Given the description of an element on the screen output the (x, y) to click on. 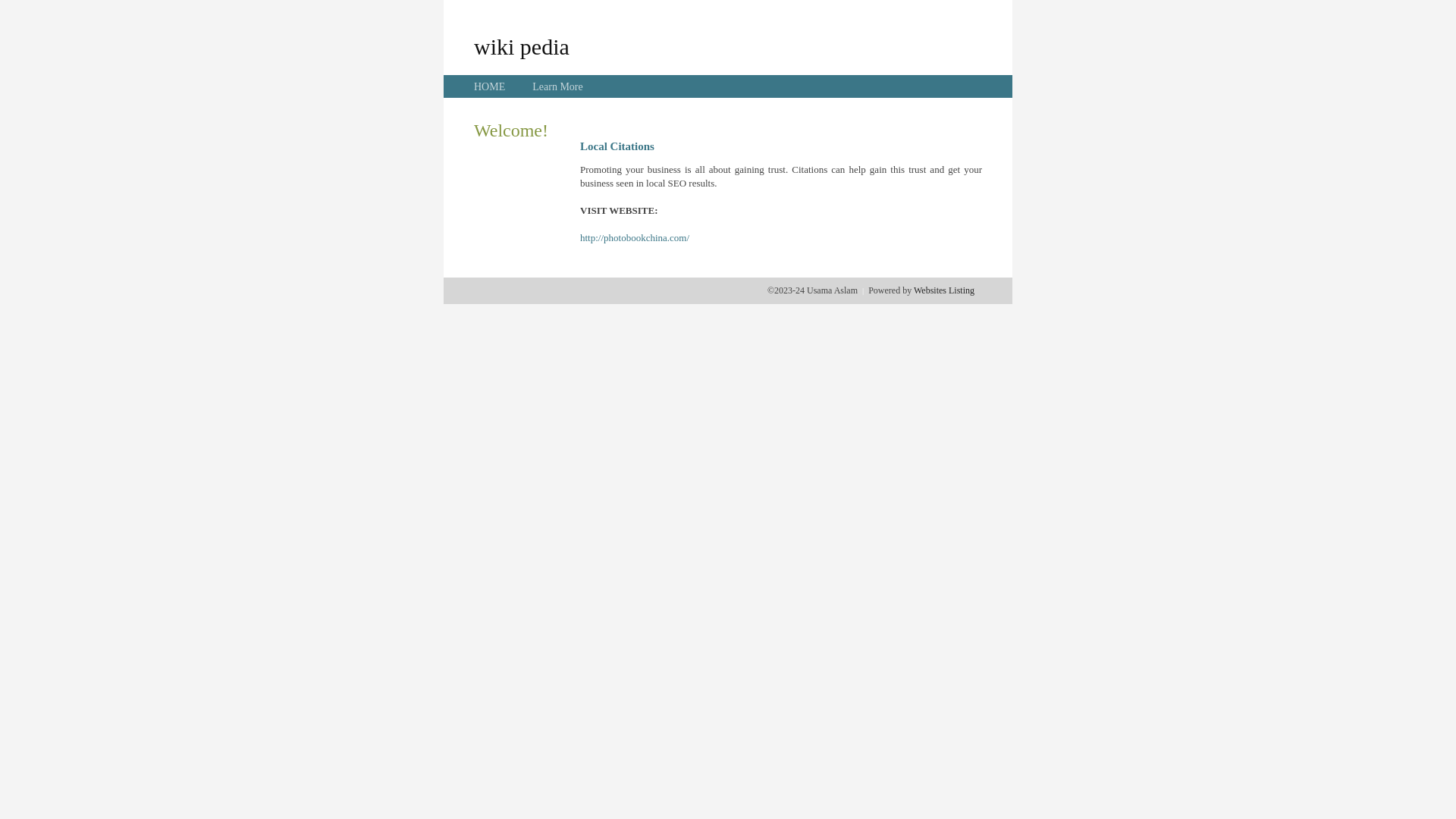
HOME Element type: text (489, 86)
wiki pedia Element type: text (521, 46)
http://photobookchina.com/ Element type: text (634, 237)
Websites Listing Element type: text (943, 290)
Learn More Element type: text (557, 86)
